Given the description of an element on the screen output the (x, y) to click on. 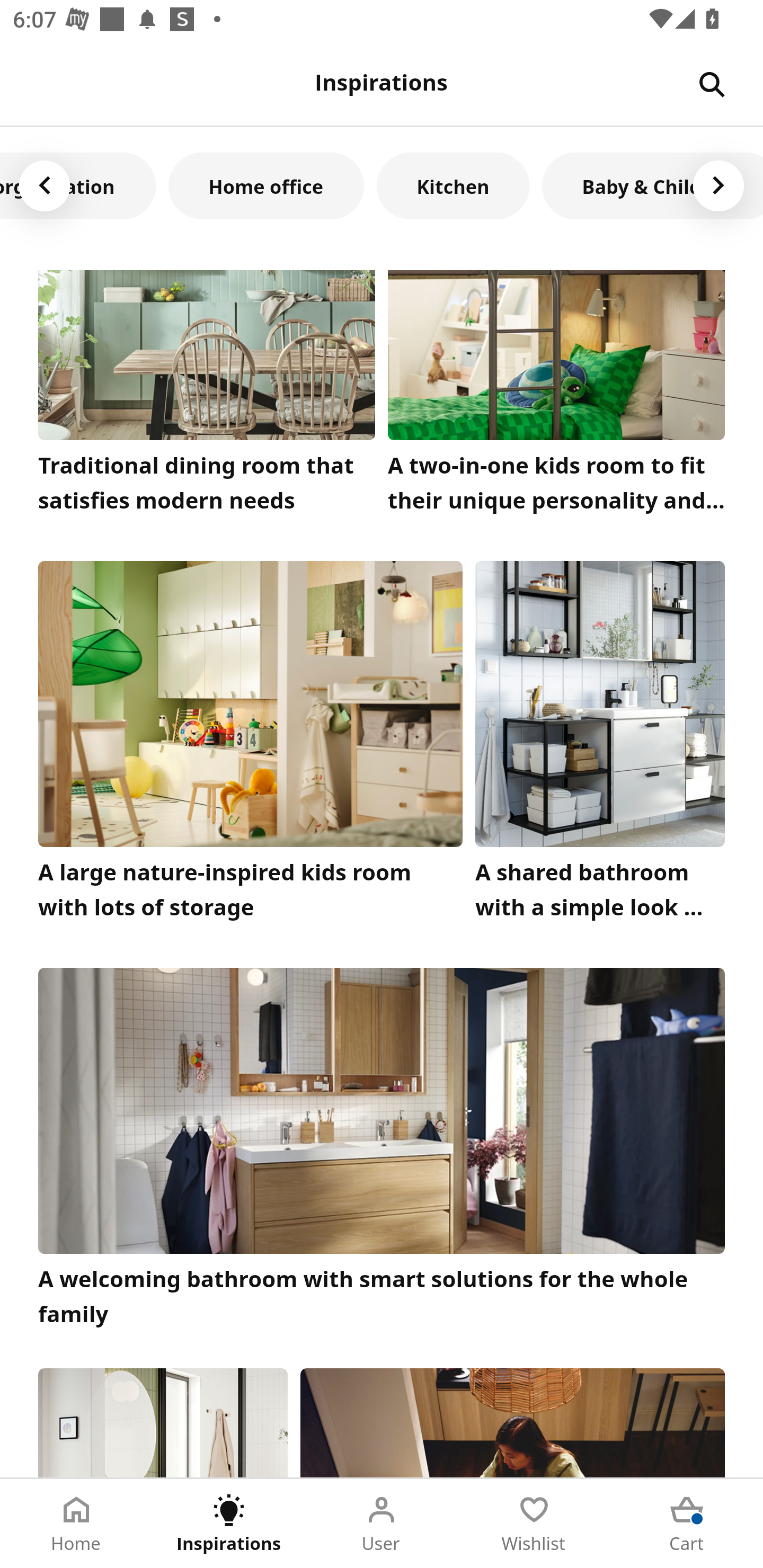
Home office (265, 185)
Kitchen (452, 185)
Baby & Children  (652, 185)
Home
Tab 1 of 5 (76, 1522)
Inspirations
Tab 2 of 5 (228, 1522)
User
Tab 3 of 5 (381, 1522)
Wishlist
Tab 4 of 5 (533, 1522)
Cart
Tab 5 of 5 (686, 1522)
